Given the description of an element on the screen output the (x, y) to click on. 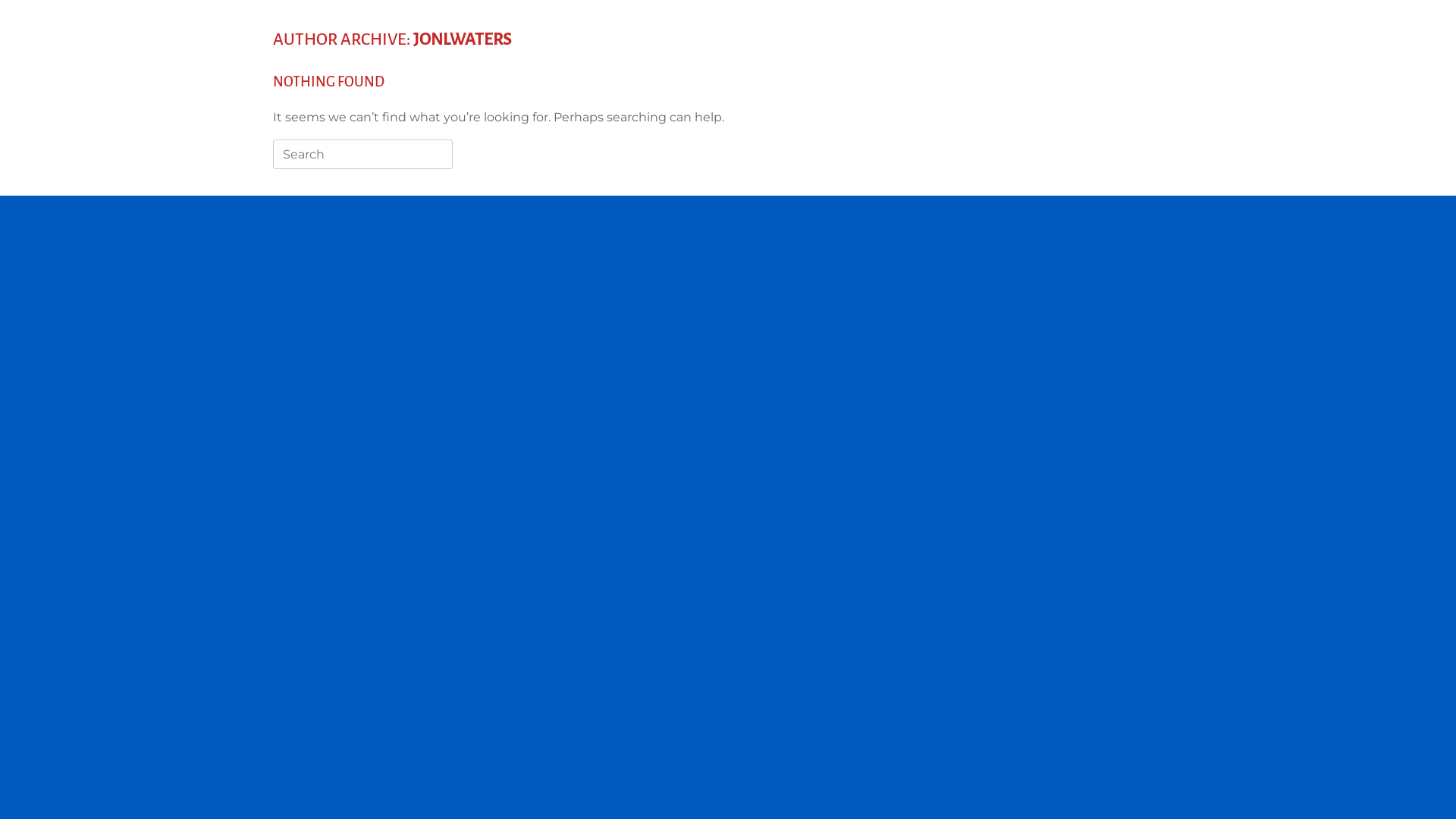
Skip to content Element type: text (0, 0)
JONLWATERS Element type: text (462, 39)
